Given the description of an element on the screen output the (x, y) to click on. 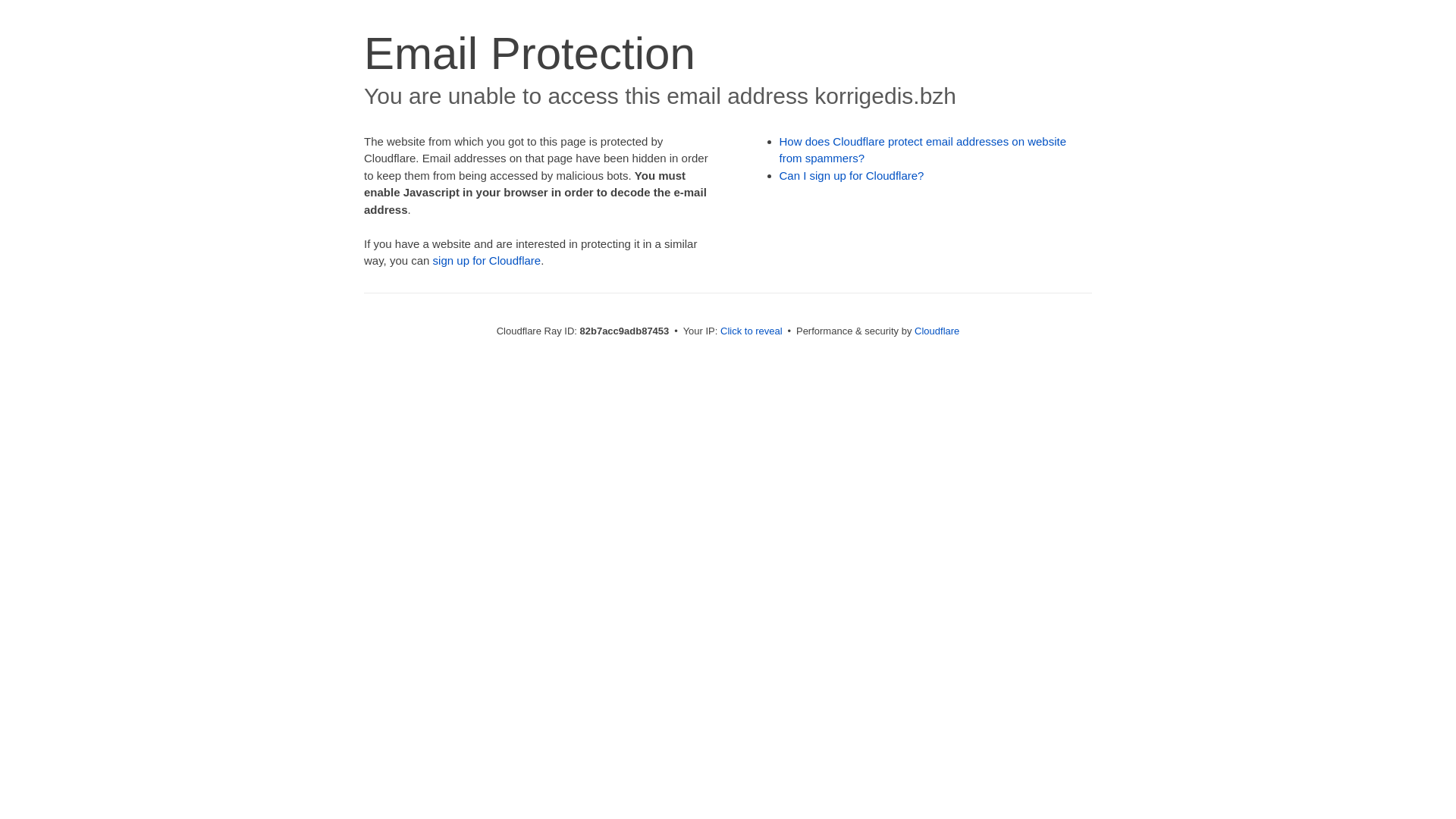
Click to reveal Element type: text (751, 330)
sign up for Cloudflare Element type: text (487, 260)
Can I sign up for Cloudflare? Element type: text (851, 175)
Cloudflare Element type: text (936, 330)
